Given the description of an element on the screen output the (x, y) to click on. 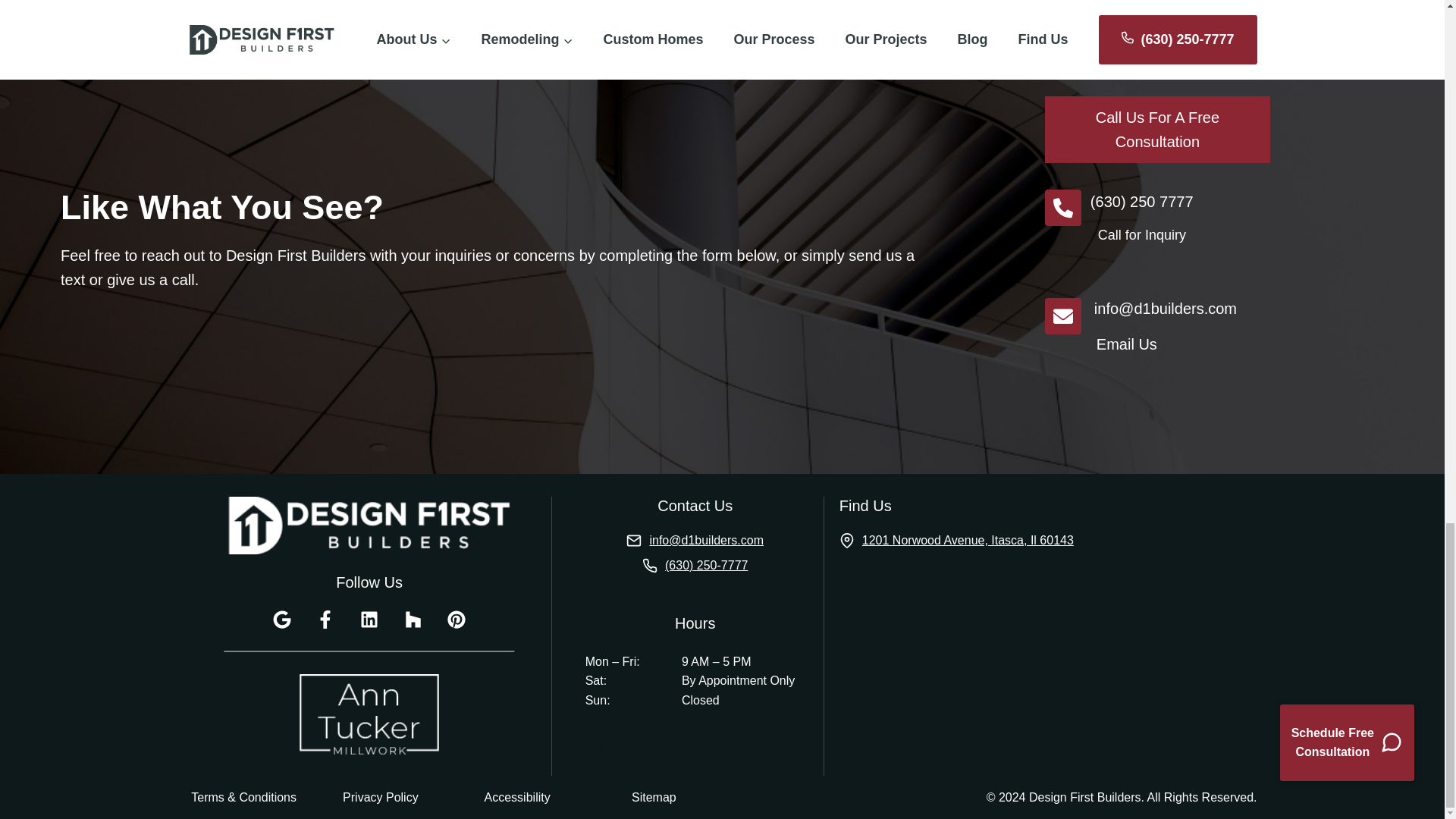
1201 Norwood Avenue, Itasca, Il 60143 (957, 540)
Privacy Policy (380, 797)
Google map of 1201 Norwood Avenue, Itasca, Il 60143 (1008, 671)
Go to Design First Homepage (369, 525)
